Given the description of an element on the screen output the (x, y) to click on. 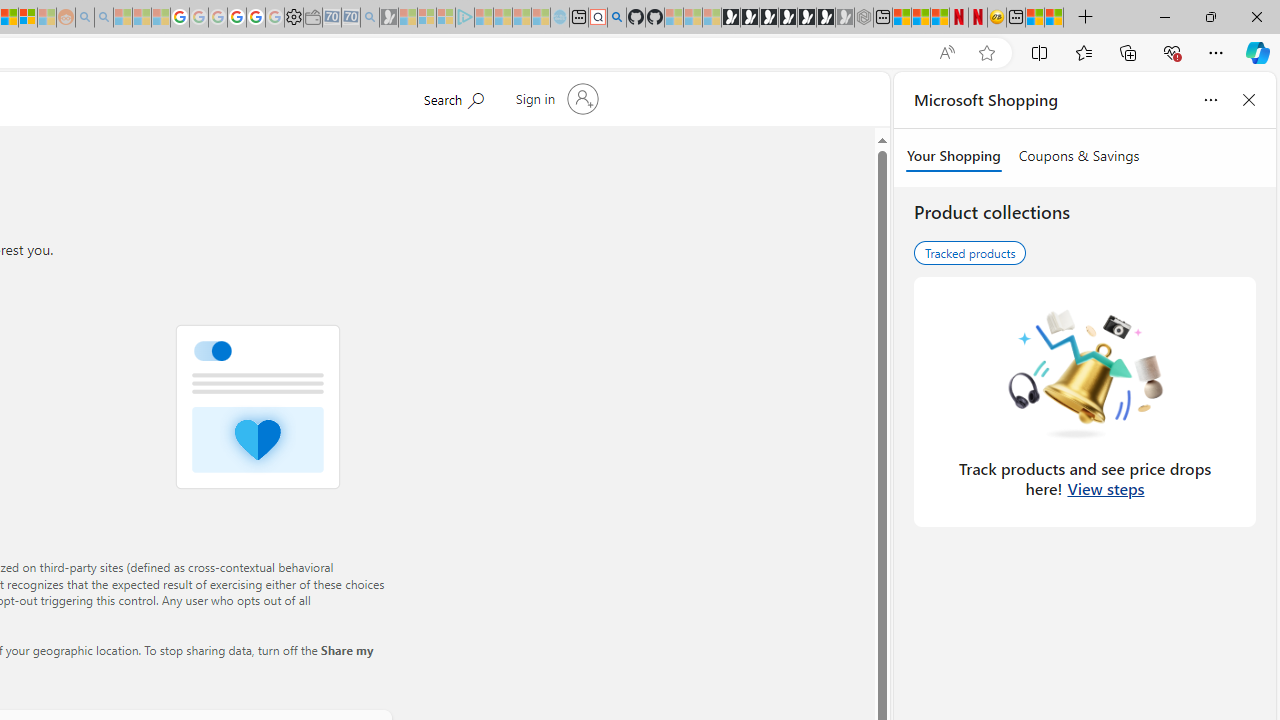
Search Microsoft.com (452, 97)
github - Search (616, 17)
